Given the description of an element on the screen output the (x, y) to click on. 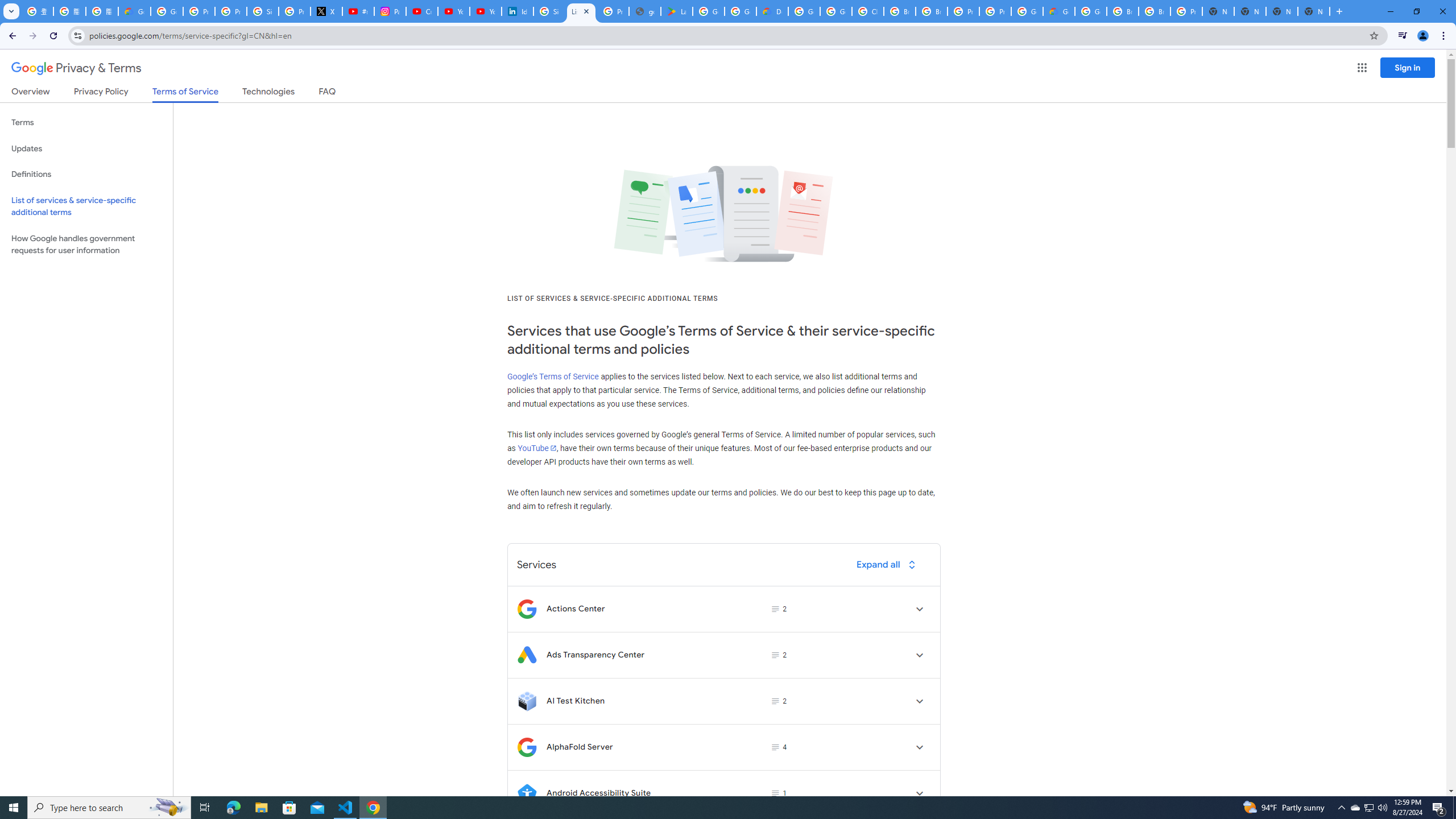
Expand all (888, 564)
